Given the description of an element on the screen output the (x, y) to click on. 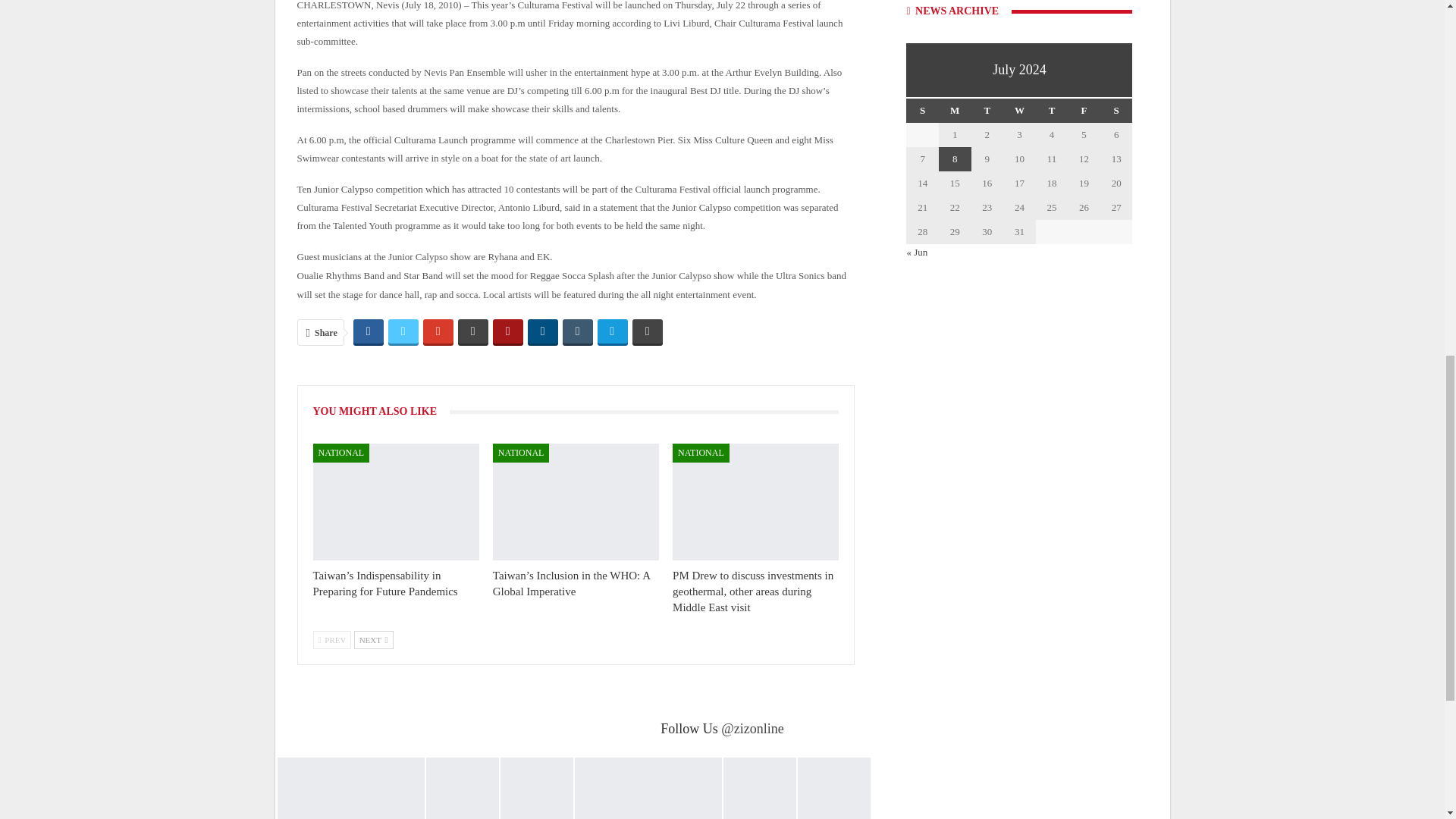
Tuesday (987, 110)
Next (373, 639)
Thursday (1051, 110)
Previous (331, 639)
Sunday (922, 110)
Monday (955, 110)
Wednesday (1019, 110)
